Given the description of an element on the screen output the (x, y) to click on. 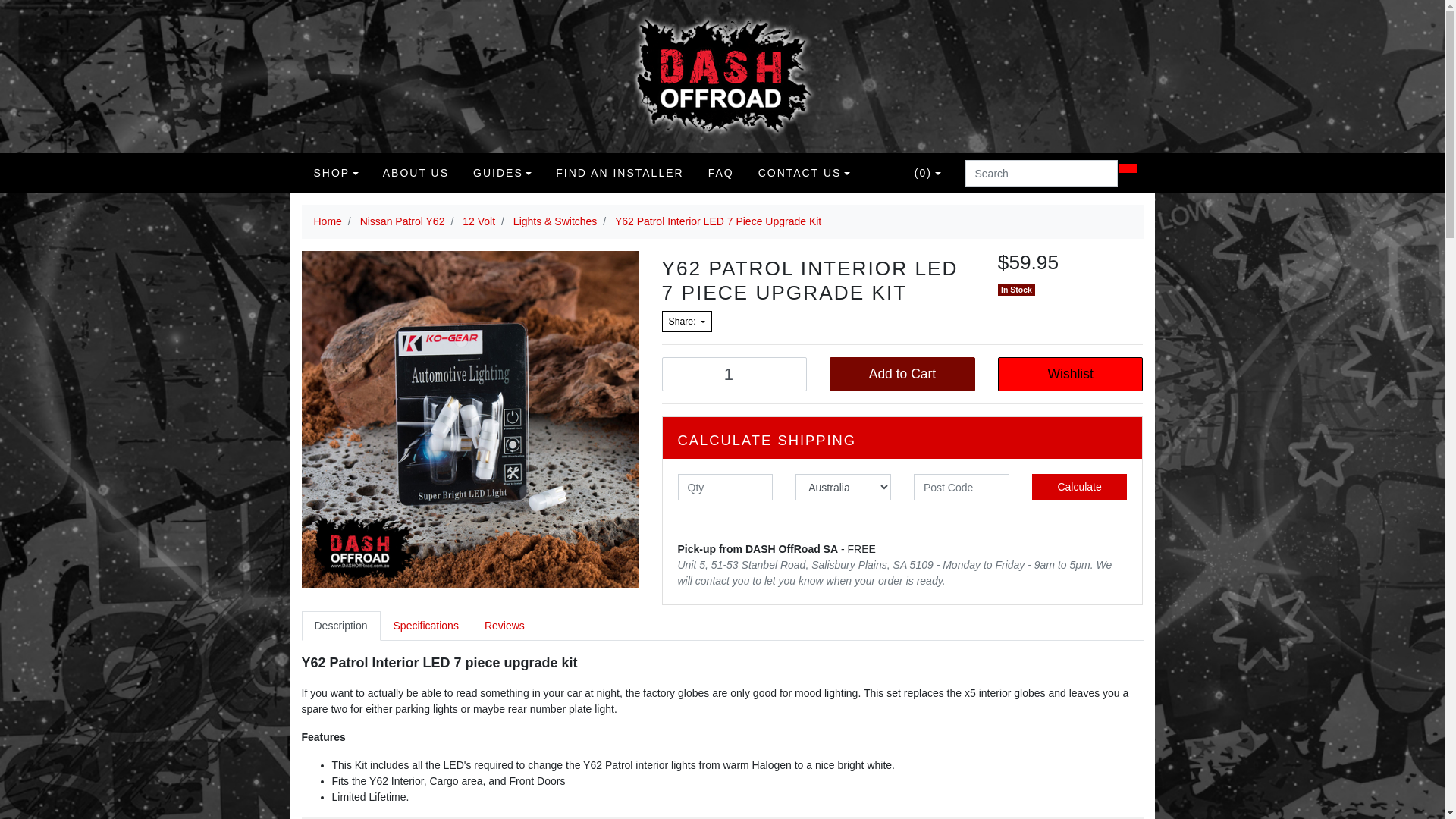
CONTACT US Element type: text (804, 173)
Lights & Switches Element type: text (555, 221)
Reviews Element type: text (504, 625)
Calculate Element type: text (1079, 486)
(0) Element type: text (927, 173)
Wishlist Element type: text (1070, 373)
SHOP Element type: text (335, 173)
DASH OffRoad Element type: hover (721, 75)
Y62 Patrol Interior LED 7 Piece Upgrade Kit Element type: text (718, 221)
Skip to main content Element type: text (0, 0)
Add to Cart Element type: text (902, 373)
GUIDES Element type: text (502, 173)
FIND AN INSTALLER Element type: text (619, 173)
12 Volt Element type: text (478, 221)
Nissan Patrol Y62 Element type: text (402, 221)
Specifications Element type: text (425, 625)
Share: Element type: text (686, 321)
ABOUT US Element type: text (415, 173)
Home Element type: text (327, 221)
Description Element type: text (340, 625)
FAQ Element type: text (721, 173)
Search Element type: text (1127, 168)
